Given the description of an element on the screen output the (x, y) to click on. 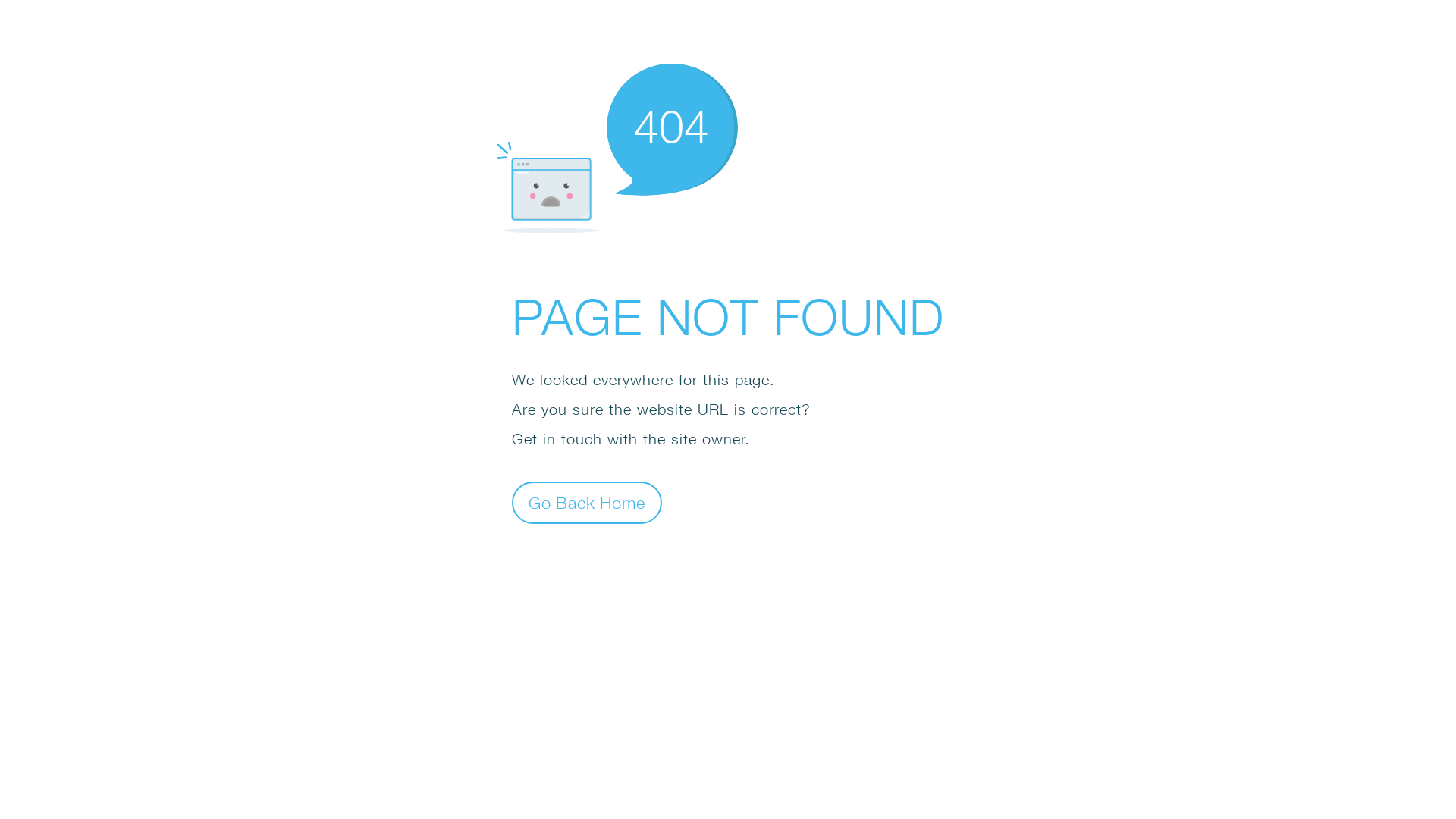
Go Back Home Element type: text (586, 502)
